Given the description of an element on the screen output the (x, y) to click on. 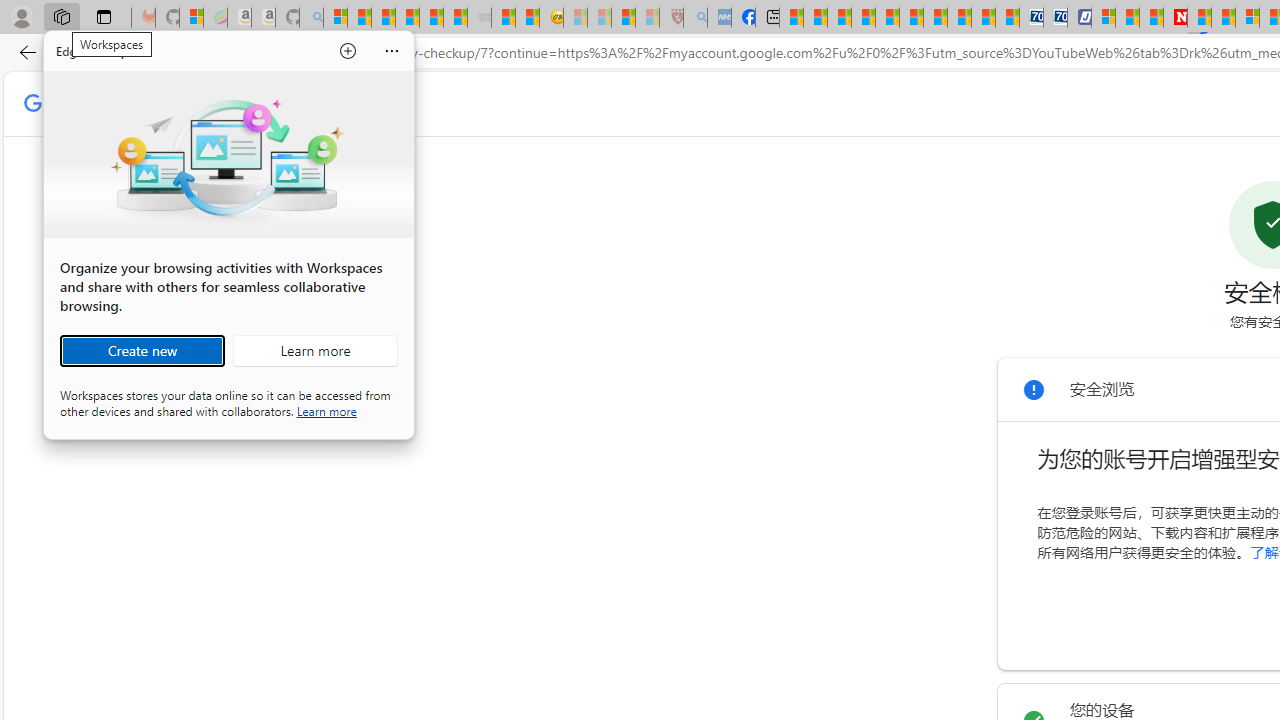
Newsweek - News, Analysis, Politics, Business, Technology (1174, 17)
Recipes - MSN - Sleeping (575, 17)
Cheap Hotels - Save70.com (1055, 17)
World - MSN (839, 17)
